Given the description of an element on the screen output the (x, y) to click on. 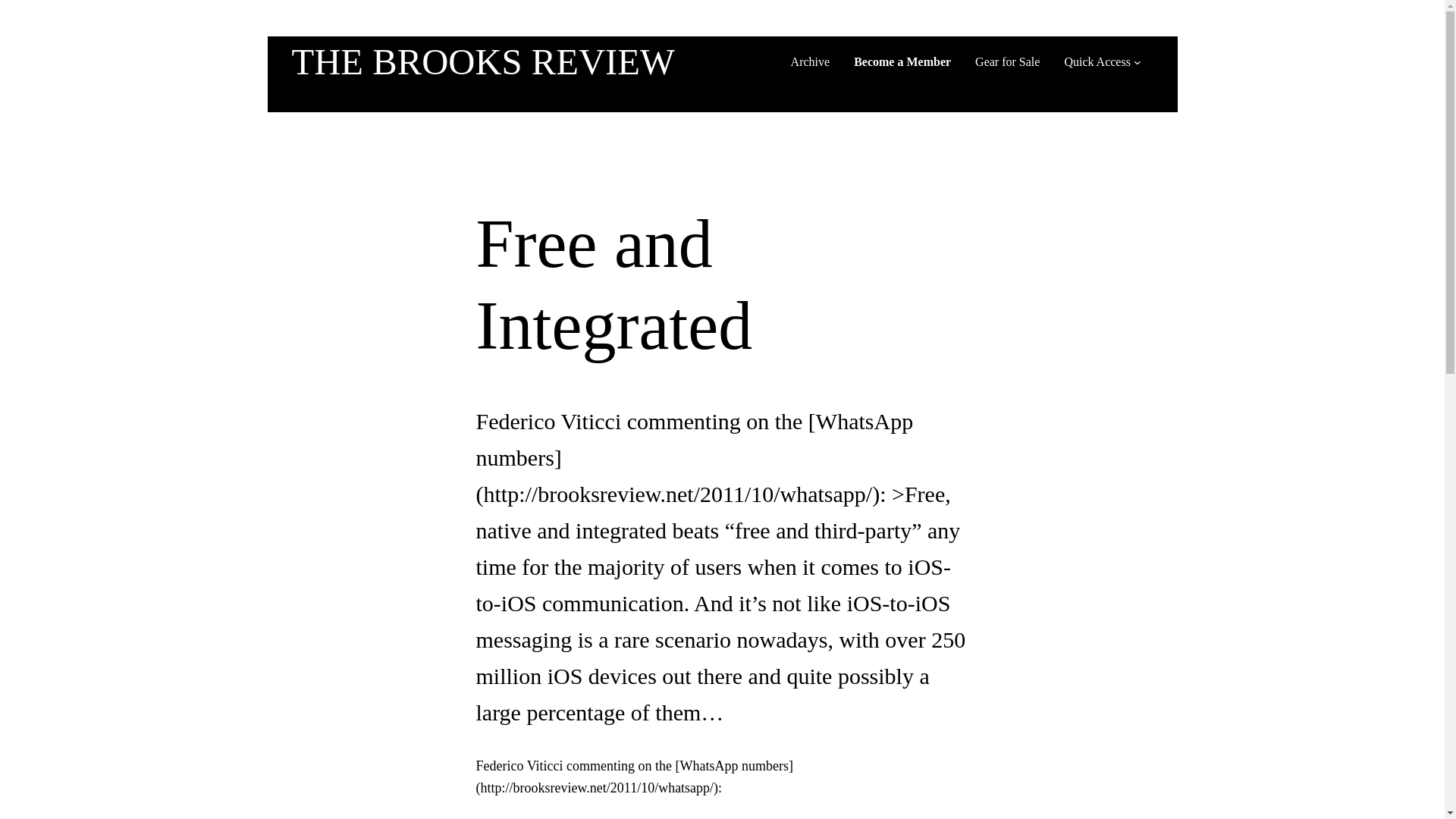
Gear for Sale (1007, 62)
Archive (809, 62)
Become a Member (901, 62)
Quick Access (1097, 62)
THE BROOKS REVIEW (482, 61)
